Given the description of an element on the screen output the (x, y) to click on. 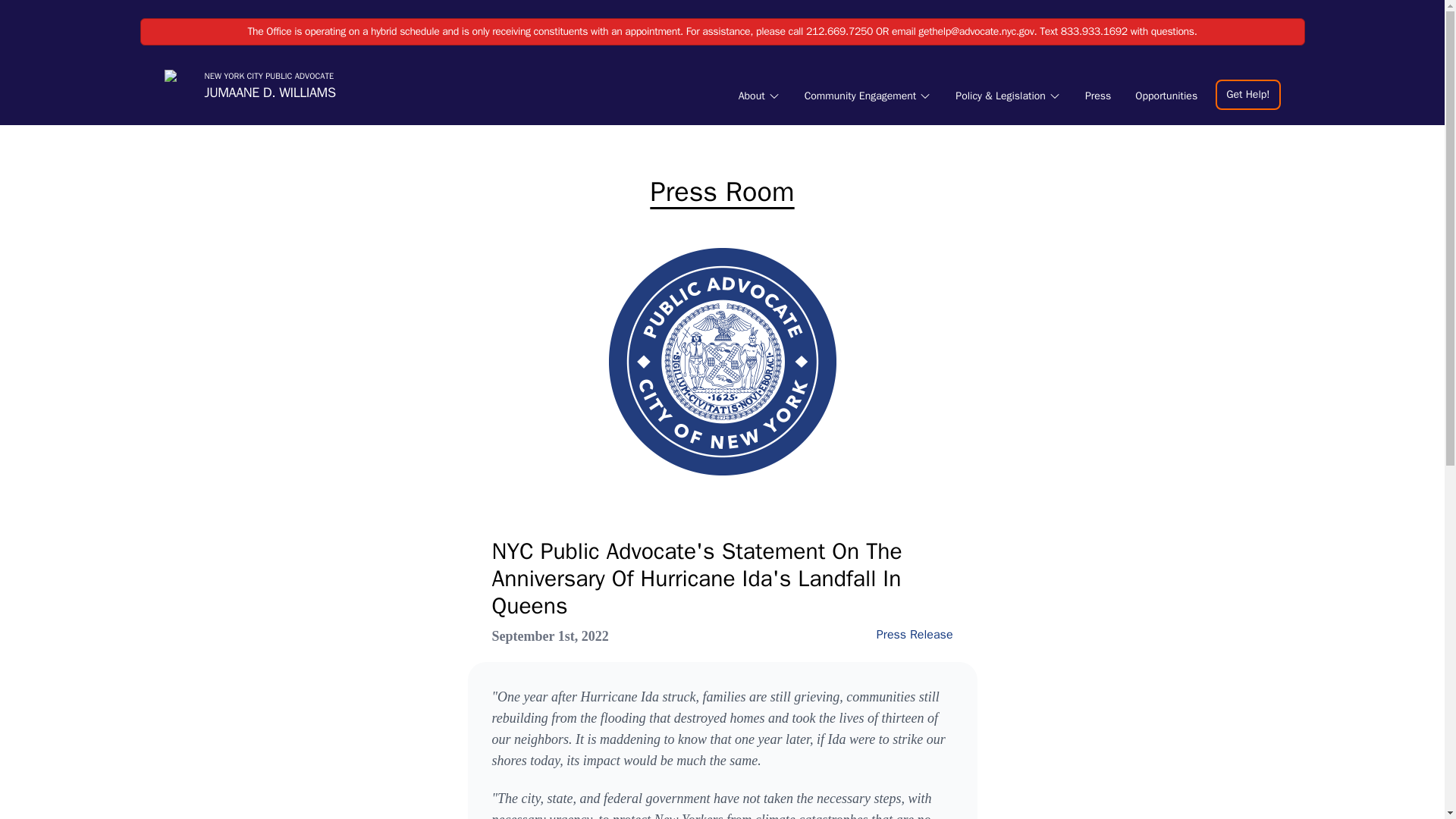
Press Room (722, 191)
About (759, 95)
Press (1097, 95)
Community Engagement (867, 95)
Get Help! (248, 86)
Opportunities (1247, 93)
